Given the description of an element on the screen output the (x, y) to click on. 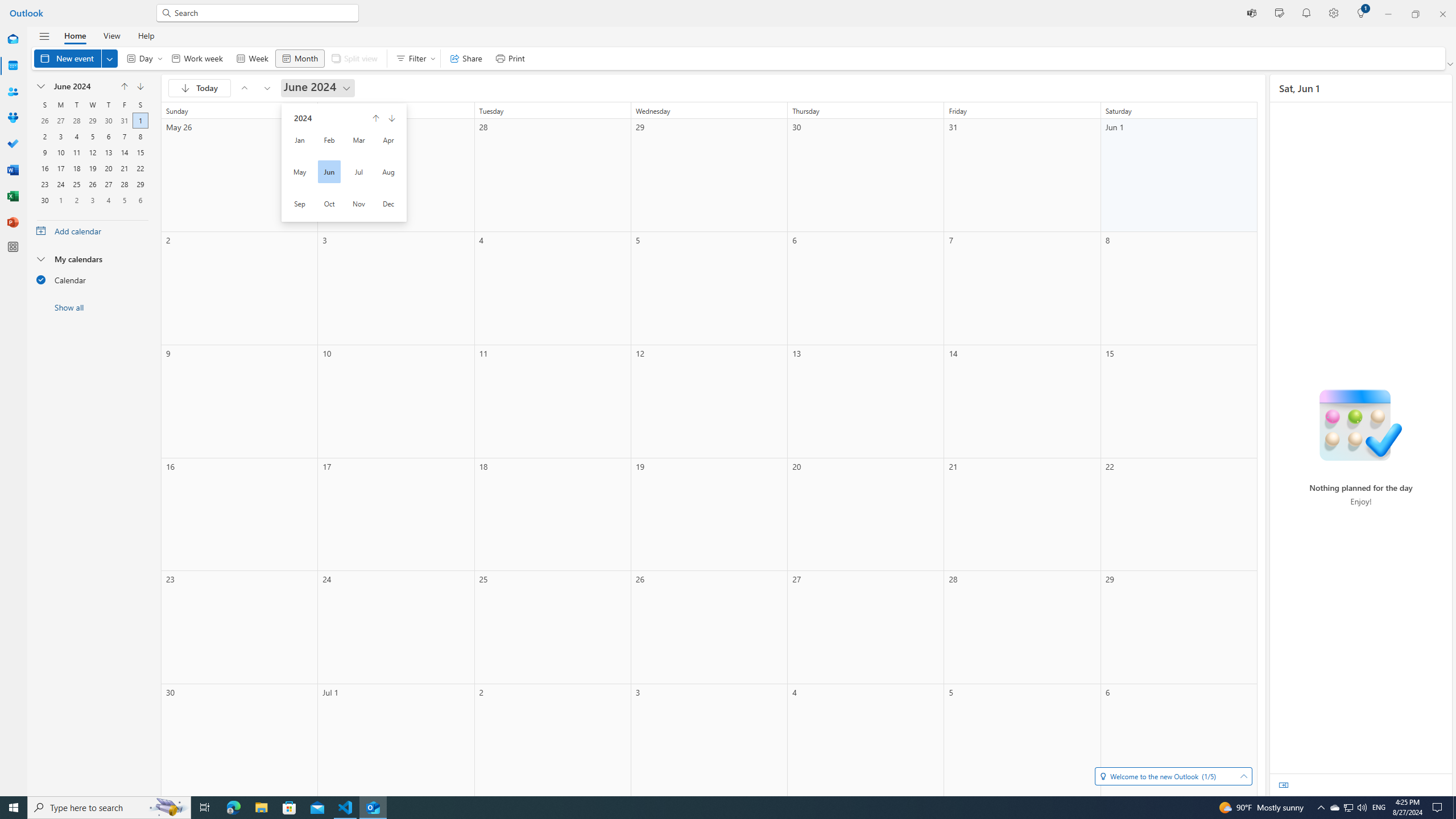
Go to previous month May 2024 (244, 88)
17, June, 2024 (60, 167)
Go to next month July 2024 (266, 88)
4, June, 2024 (76, 135)
23, June, 2024 (44, 183)
Add calendar (92, 230)
Calendar (92, 279)
20, June, 2024 (108, 167)
System (6, 6)
Wednesday (92, 104)
11, June, 2024 (75, 151)
13, June, 2024 (108, 151)
6, June, 2024 (108, 135)
